Given the description of an element on the screen output the (x, y) to click on. 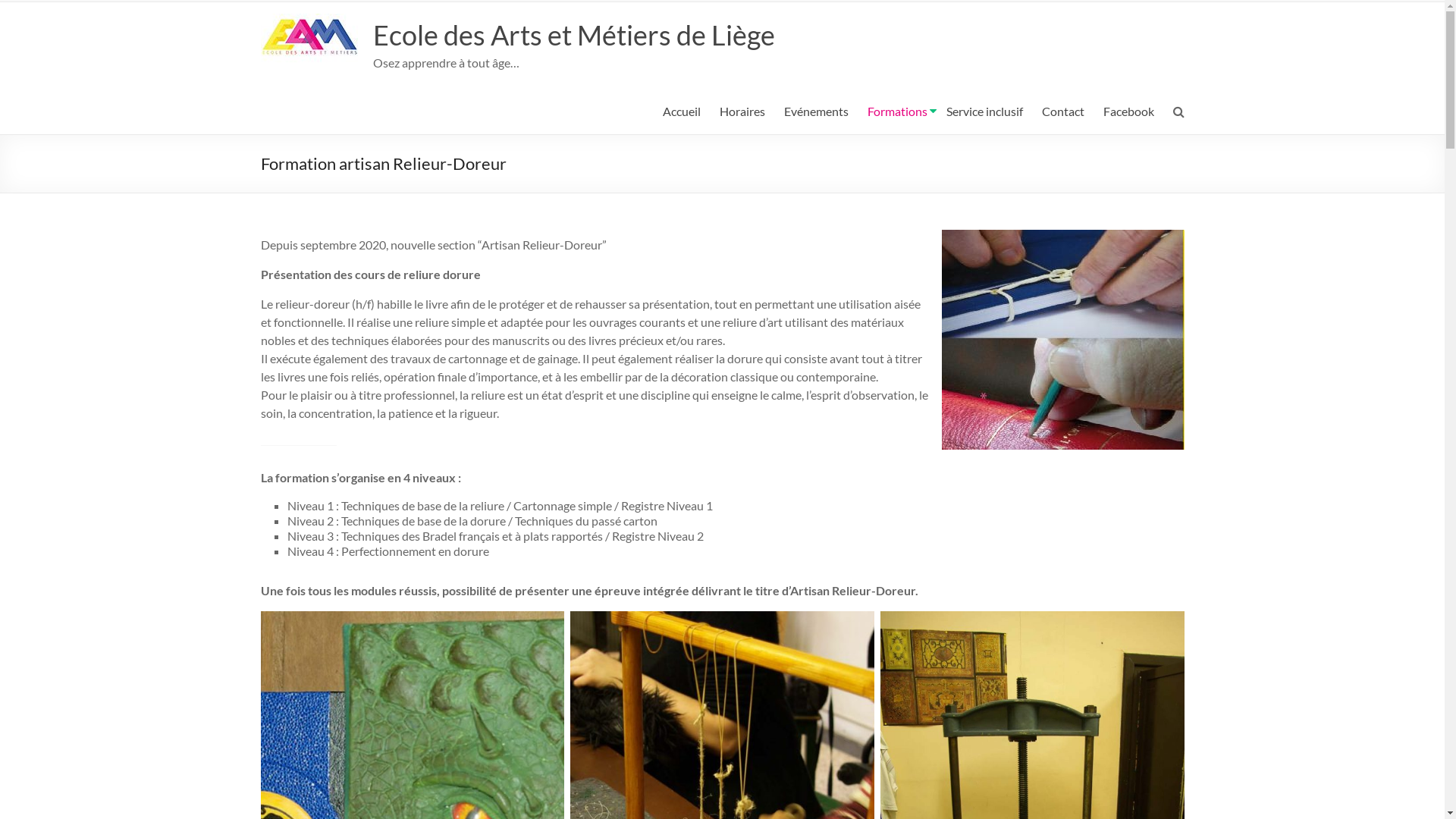
Accueil Element type: text (681, 111)
Formations Element type: text (897, 111)
Facebook Element type: text (1127, 111)
Service inclusif Element type: text (984, 111)
Horaires Element type: text (741, 111)
Contact Element type: text (1062, 111)
